Given the description of an element on the screen output the (x, y) to click on. 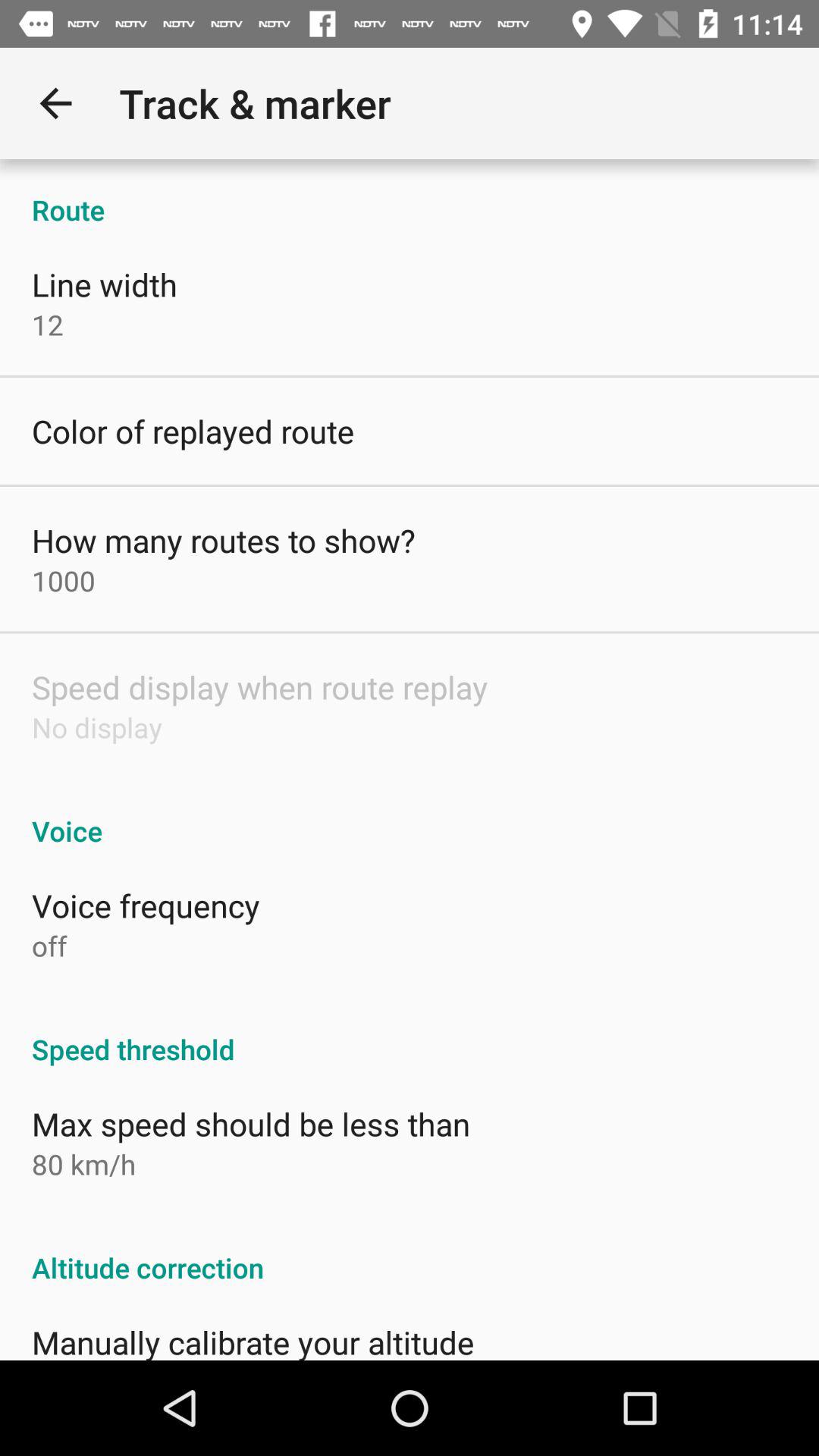
click the icon above the manually calibrate your (409, 1251)
